Given the description of an element on the screen output the (x, y) to click on. 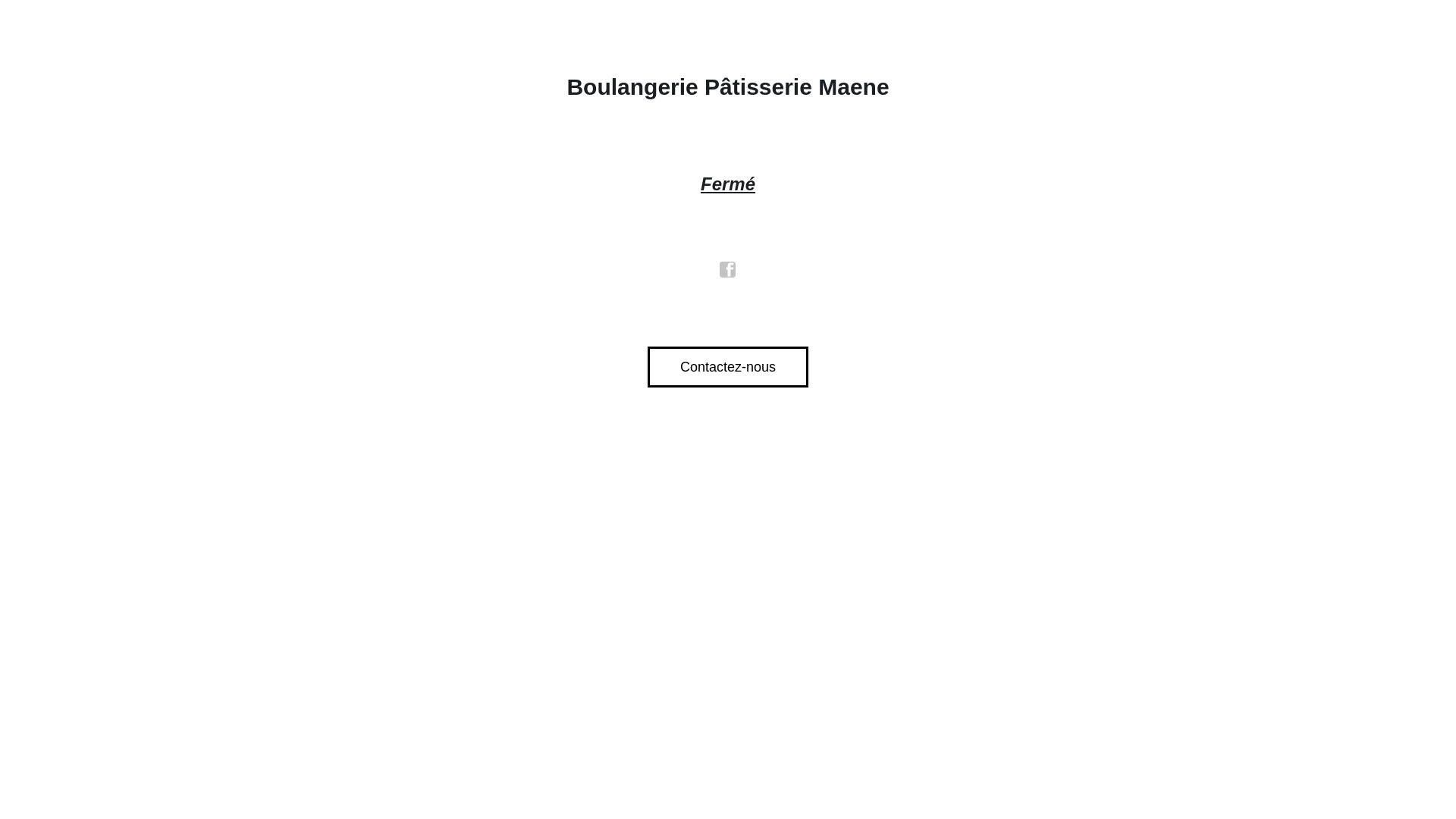
Contactez-nous Element type: text (727, 366)
facebook Element type: text (727, 269)
